Given the description of an element on the screen output the (x, y) to click on. 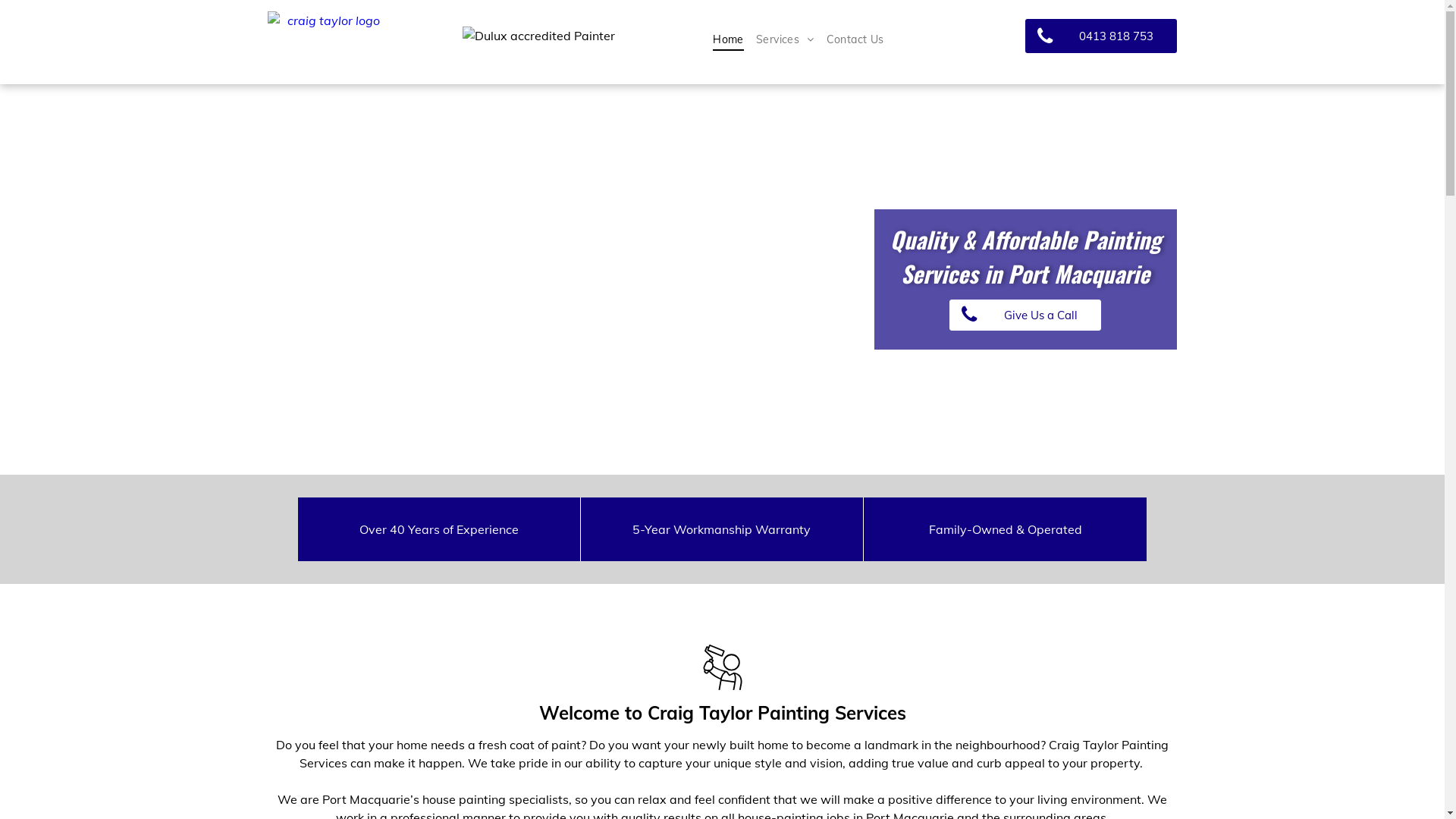
Contact Us Element type: text (855, 39)
Home Element type: text (727, 39)
Services Element type: text (784, 39)
0413 818 753 Element type: text (1100, 35)
Give Us a Call Element type: text (1025, 314)
